Given the description of an element on the screen output the (x, y) to click on. 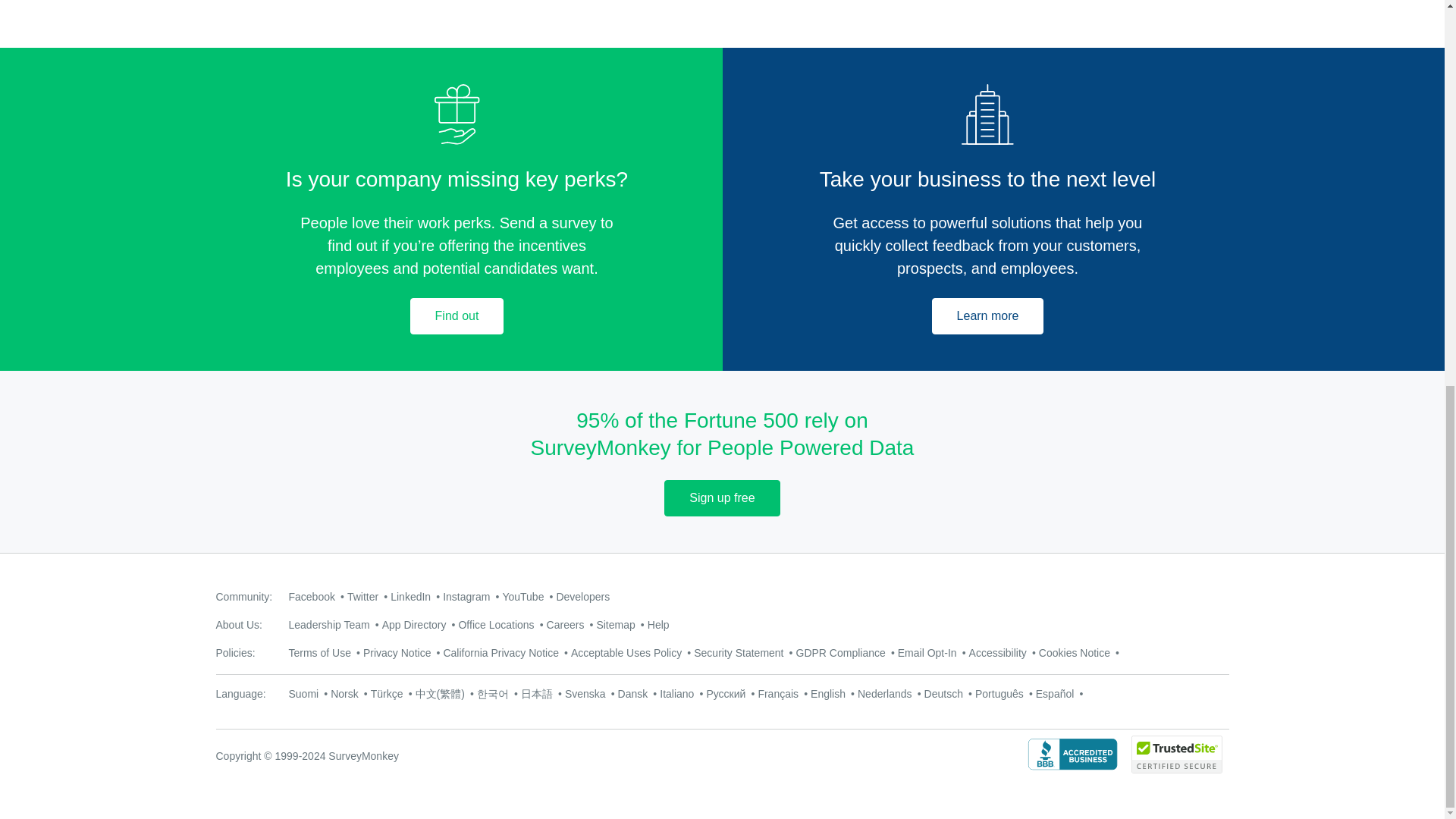
View TrustedSite Certification (1177, 768)
Cookies Notice (1074, 653)
Community: (243, 596)
Suomi (303, 693)
Find out (456, 316)
Norsk (344, 693)
Twitter (362, 596)
Instagram (465, 596)
GDPR Compliance (840, 653)
Help (658, 624)
Office Locations (496, 624)
Acceptable Uses Policy (625, 653)
Security Statement (738, 653)
California Privacy Notice (500, 653)
Careers (566, 624)
